Given the description of an element on the screen output the (x, y) to click on. 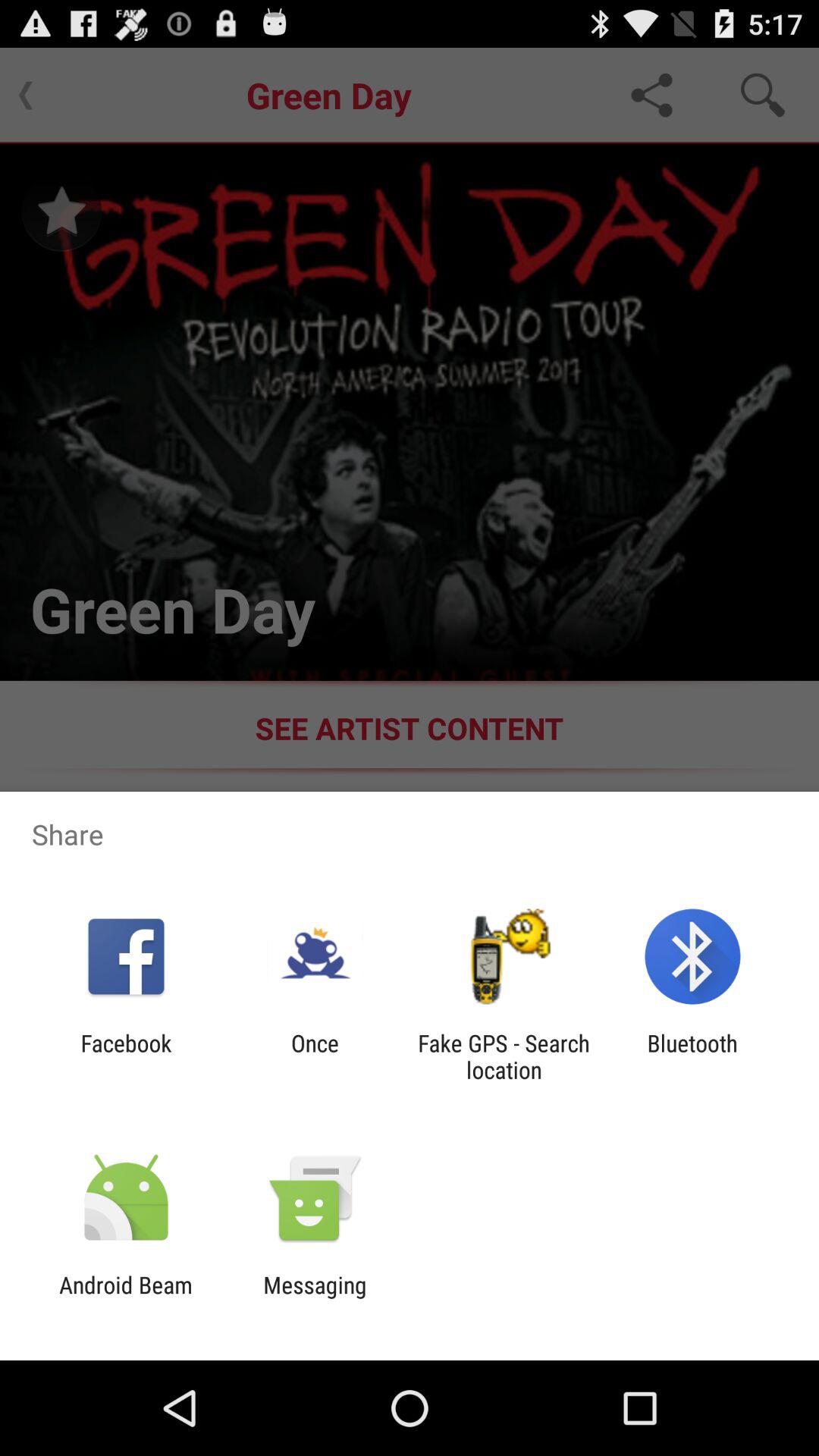
tap item next to fake gps search (314, 1056)
